Given the description of an element on the screen output the (x, y) to click on. 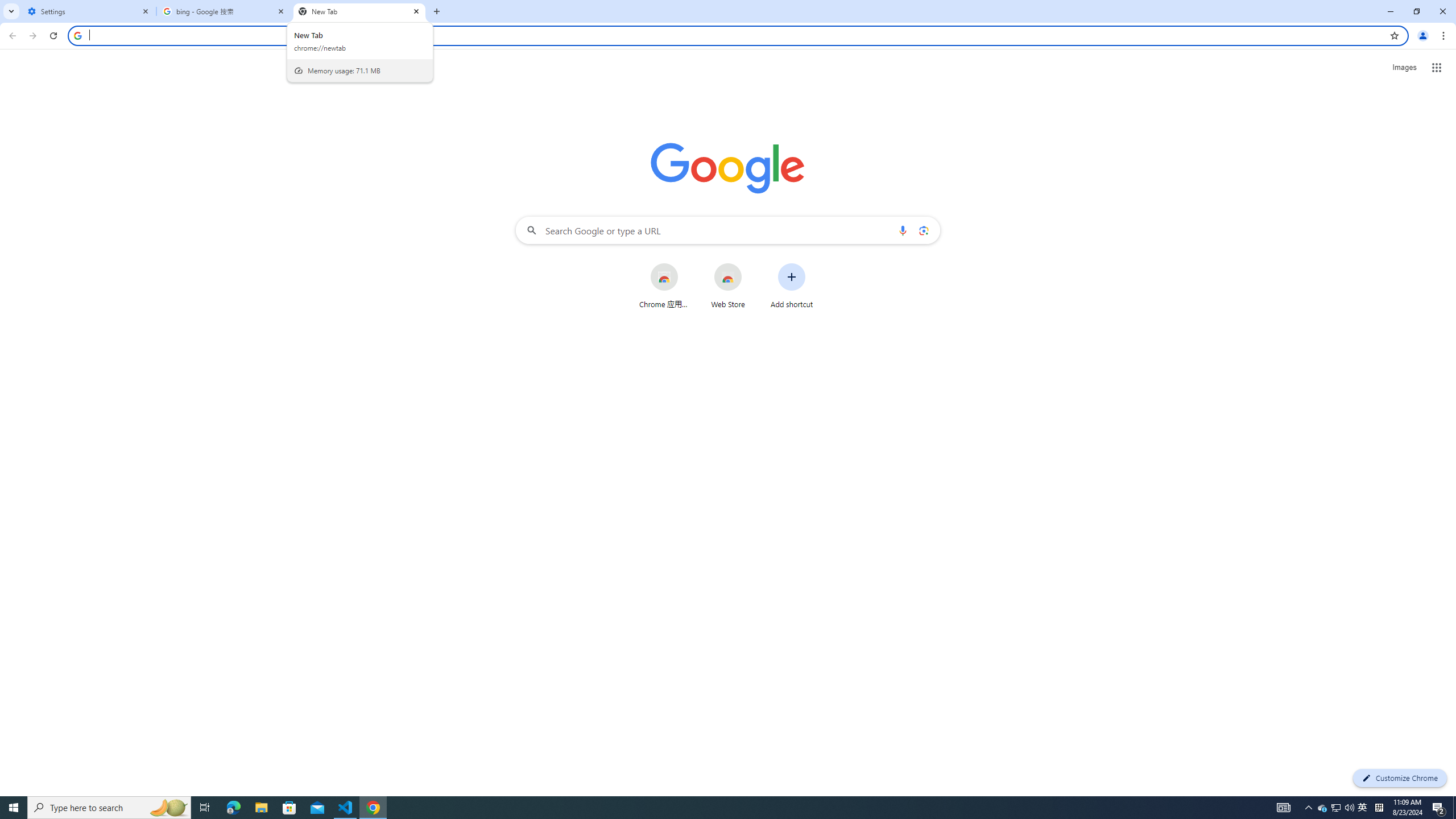
More actions for Web Store shortcut (750, 264)
Add shortcut (792, 285)
